Given the description of an element on the screen output the (x, y) to click on. 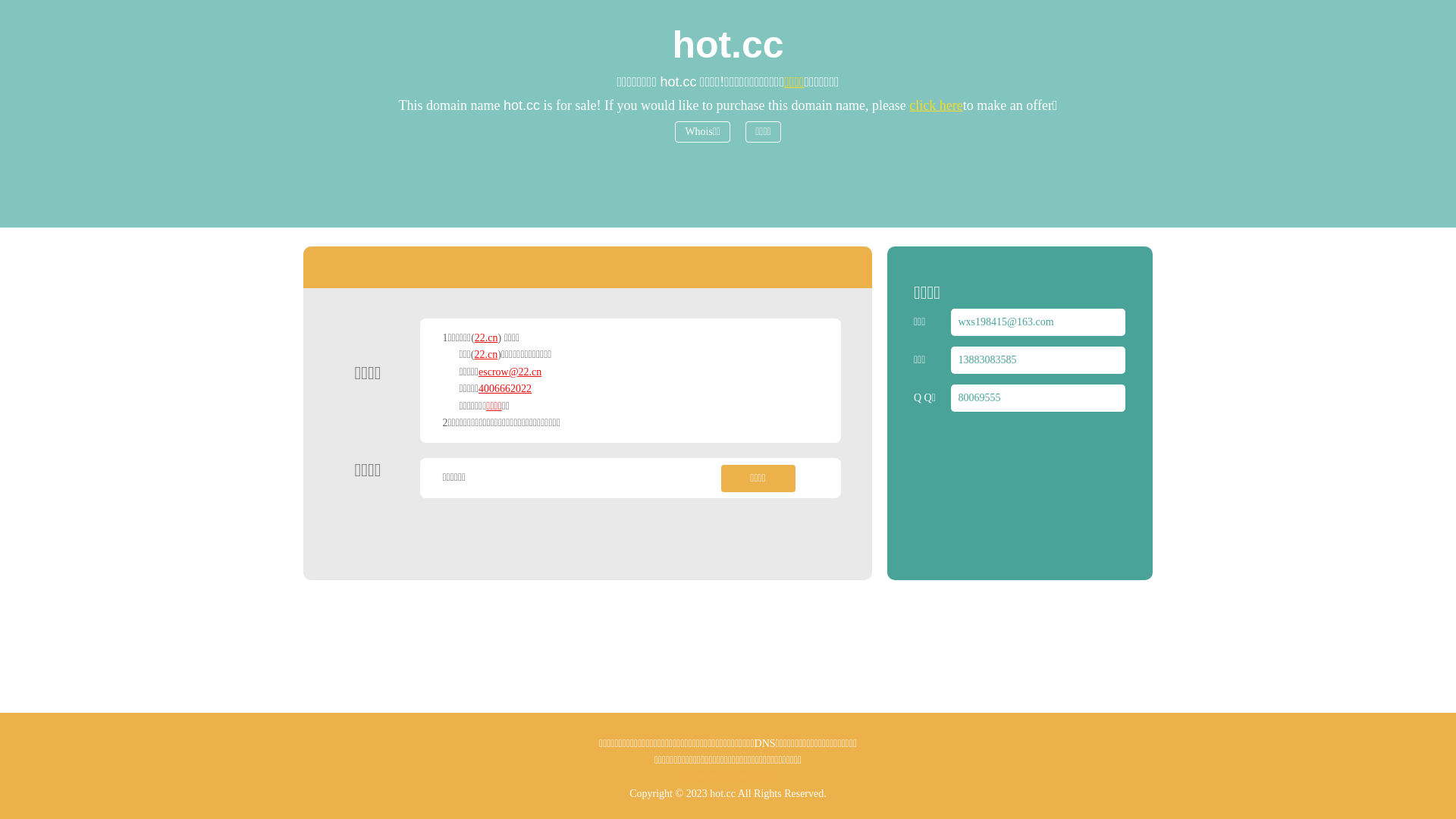
click here Element type: text (935, 104)
4006662022 Element type: text (504, 388)
22.cn Element type: text (486, 337)
22.cn Element type: text (486, 354)
escrow@22.cn Element type: text (509, 371)
